Given the description of an element on the screen output the (x, y) to click on. 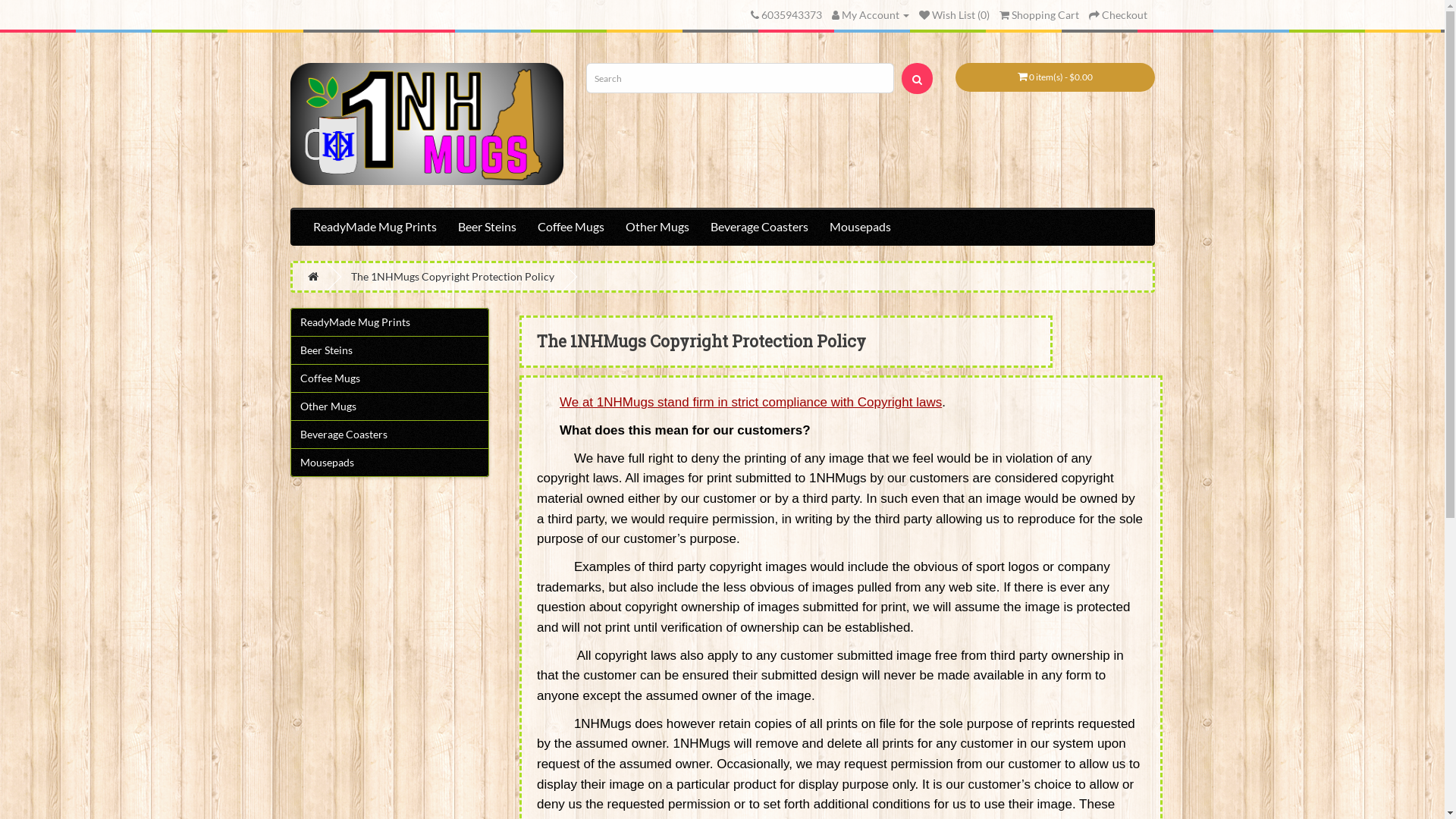
Shopping Cart Element type: text (1039, 14)
1NHMugs Element type: hover (425, 123)
Checkout Element type: text (1117, 14)
Mousepads Element type: text (389, 462)
Beer Steins Element type: text (389, 349)
Beverage Coasters Element type: text (389, 434)
Wish List (0) Element type: text (954, 14)
Other Mugs Element type: text (389, 406)
Beverage Coasters Element type: text (758, 226)
Mousepads Element type: text (860, 226)
Other Mugs Element type: text (656, 226)
Coffee Mugs Element type: text (570, 226)
ReadyMade Mug Prints Element type: text (373, 226)
The 1NHMugs Copyright Protection Policy Element type: text (451, 275)
Coffee Mugs Element type: text (389, 378)
My Account Element type: text (869, 14)
ReadyMade Mug Prints Element type: text (389, 321)
0 item(s) - $0.00 Element type: text (1054, 76)
Beer Steins Element type: text (487, 226)
